Given the description of an element on the screen output the (x, y) to click on. 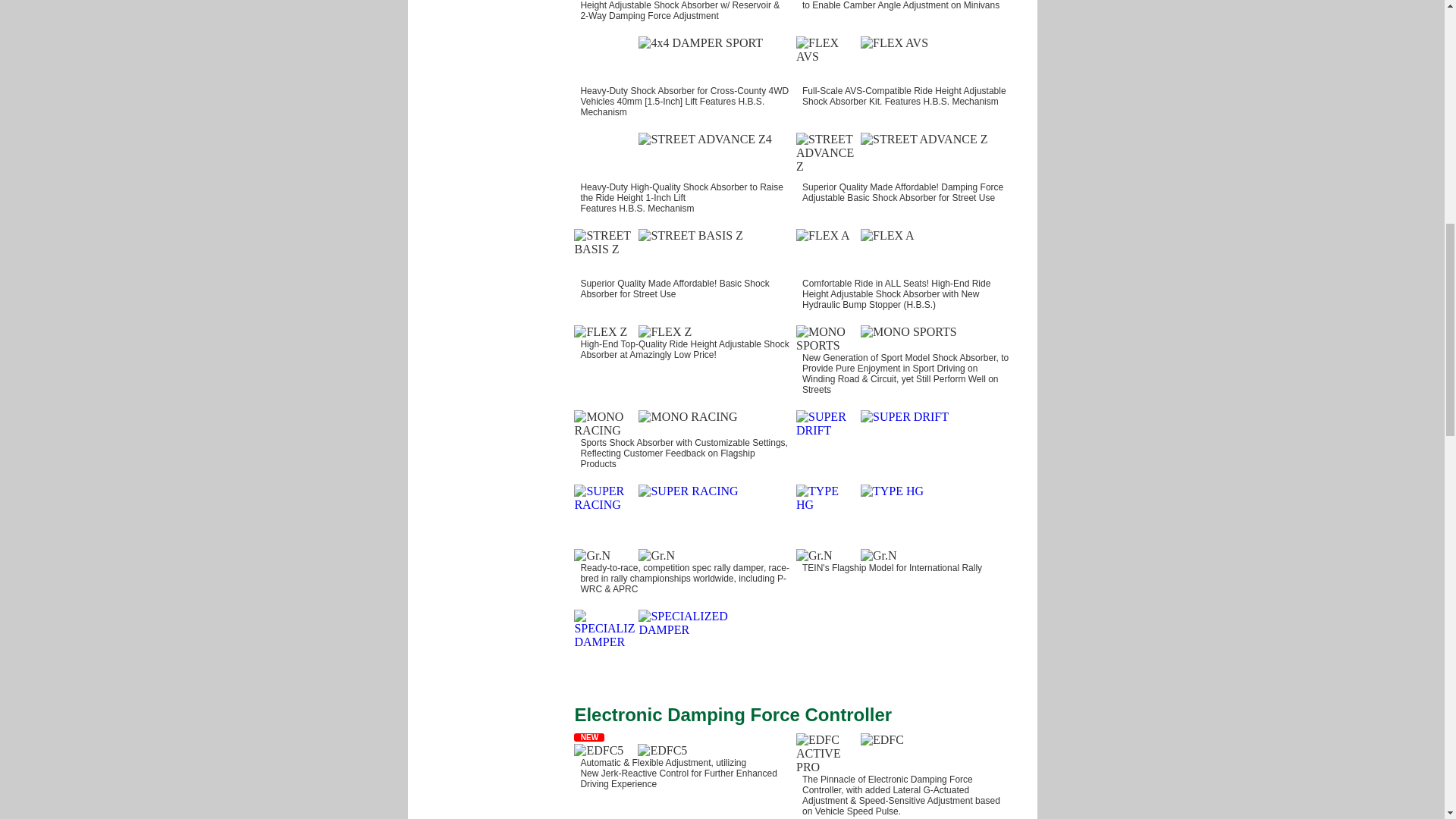
TEIN's Flagship Model for International Rally (906, 560)
